Given the description of an element on the screen output the (x, y) to click on. 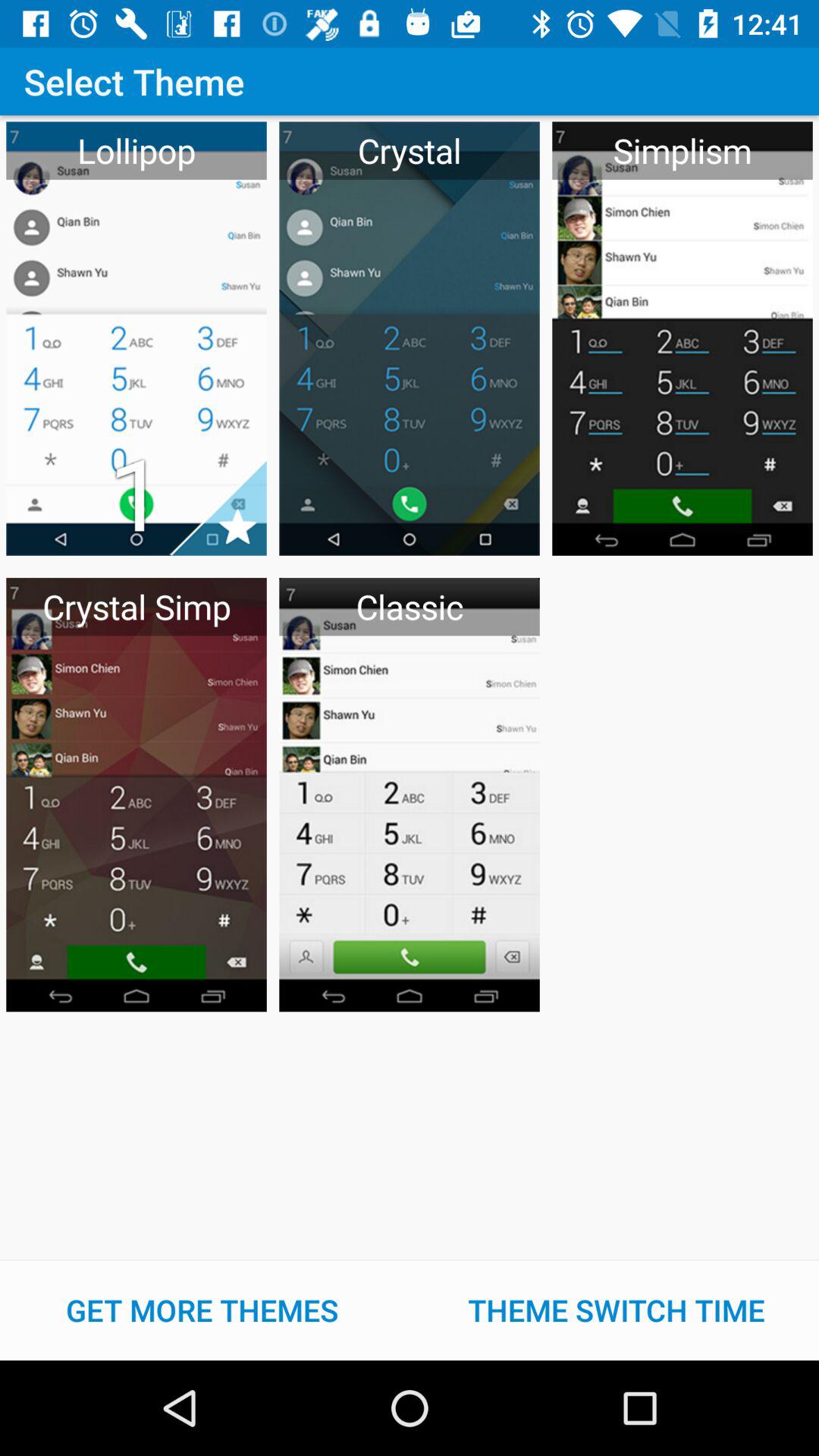
launch item at the bottom right corner (616, 1310)
